Given the description of an element on the screen output the (x, y) to click on. 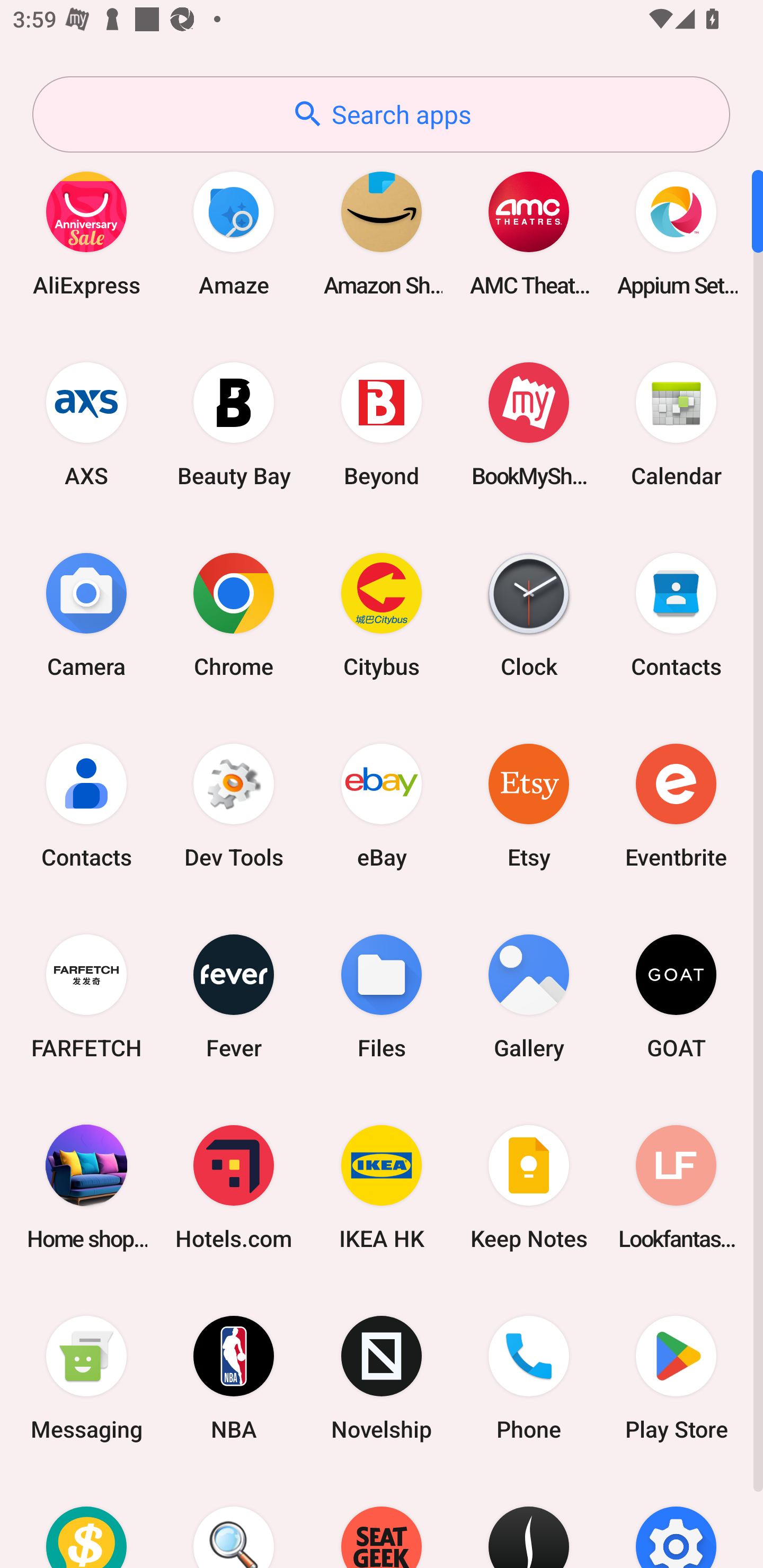
  Search apps (381, 114)
AliExpress (86, 233)
Amaze (233, 233)
Amazon Shopping (381, 233)
AMC Theatres (528, 233)
Appium Settings (676, 233)
AXS (86, 424)
Beauty Bay (233, 424)
Beyond (381, 424)
BookMyShow (528, 424)
Calendar (676, 424)
Camera (86, 614)
Chrome (233, 614)
Citybus (381, 614)
Clock (528, 614)
Contacts (676, 614)
Contacts (86, 805)
Dev Tools (233, 805)
eBay (381, 805)
Etsy (528, 805)
Eventbrite (676, 805)
FARFETCH (86, 996)
Fever (233, 996)
Files (381, 996)
Gallery (528, 996)
GOAT (676, 996)
Home shopping (86, 1186)
Hotels.com (233, 1186)
IKEA HK (381, 1186)
Keep Notes (528, 1186)
Lookfantastic (676, 1186)
Messaging (86, 1377)
NBA (233, 1377)
Novelship (381, 1377)
Phone (528, 1377)
Play Store (676, 1377)
